Given the description of an element on the screen output the (x, y) to click on. 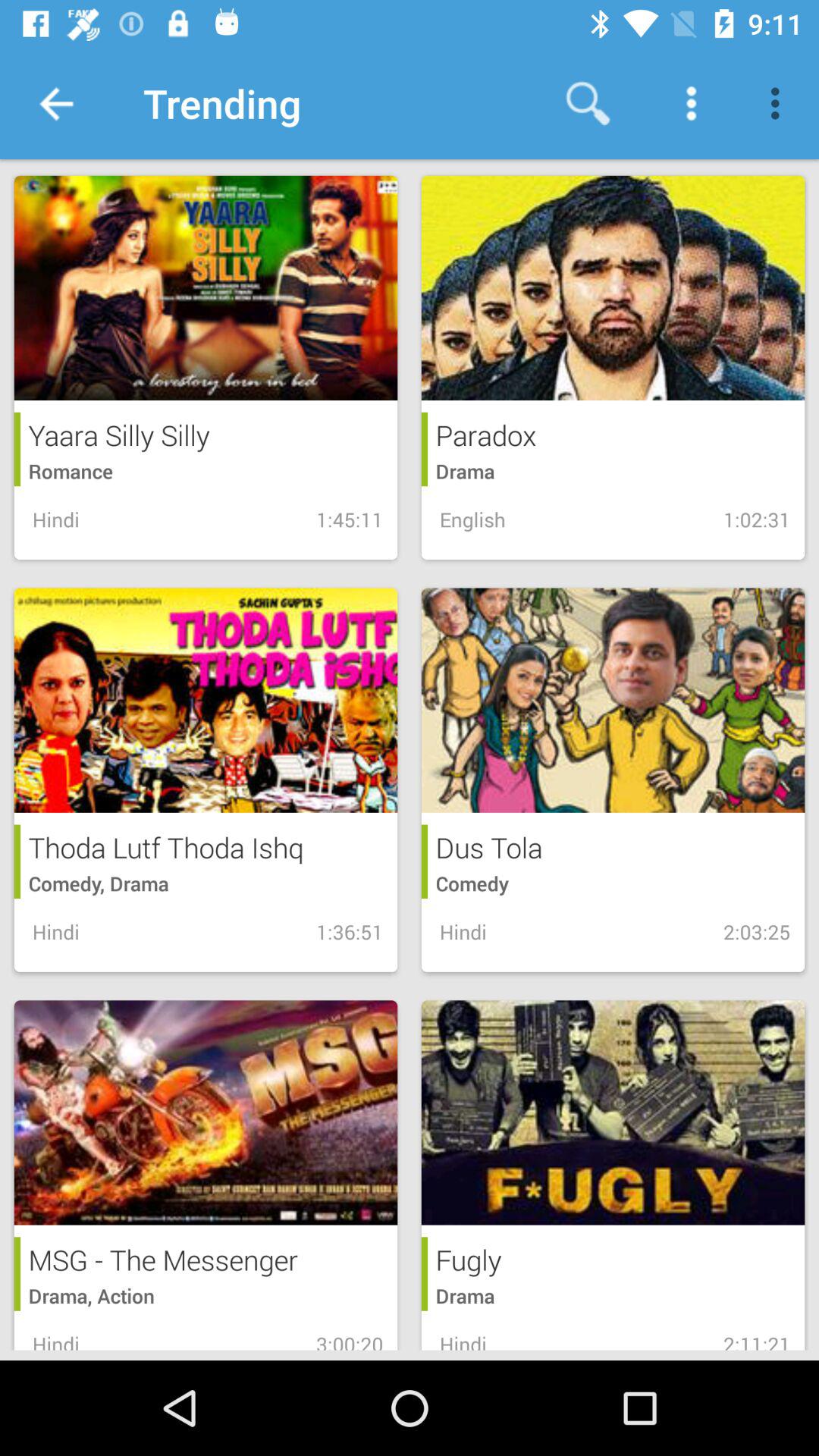
turn on icon to the right of trending (587, 103)
